Given the description of an element on the screen output the (x, y) to click on. 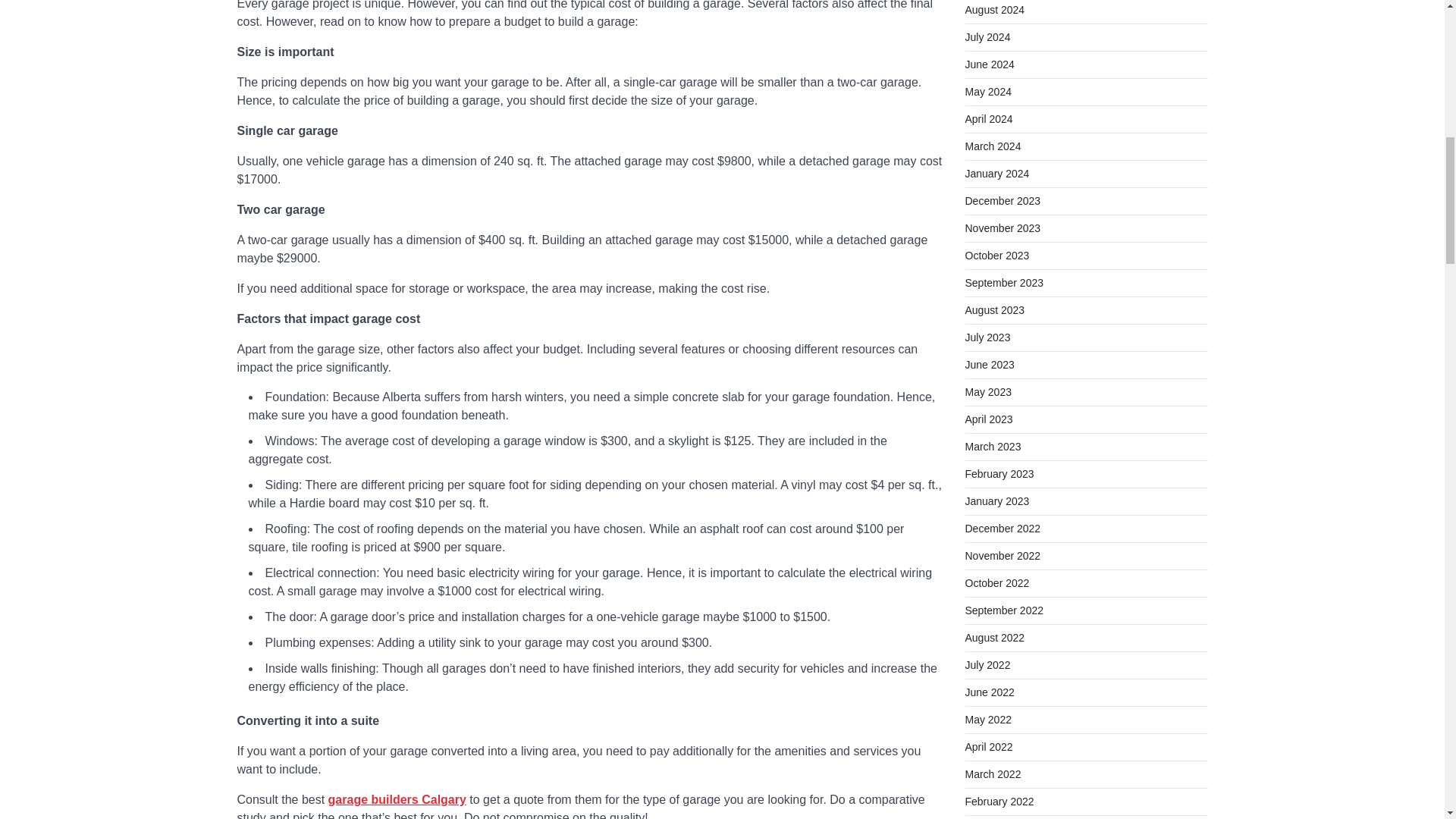
November 2023 (1002, 227)
April 2024 (987, 119)
October 2023 (996, 255)
June 2024 (988, 64)
September 2023 (1003, 282)
March 2024 (991, 146)
garage builders Calgary (397, 799)
January 2024 (996, 173)
August 2024 (994, 9)
December 2023 (1002, 200)
